Given the description of an element on the screen output the (x, y) to click on. 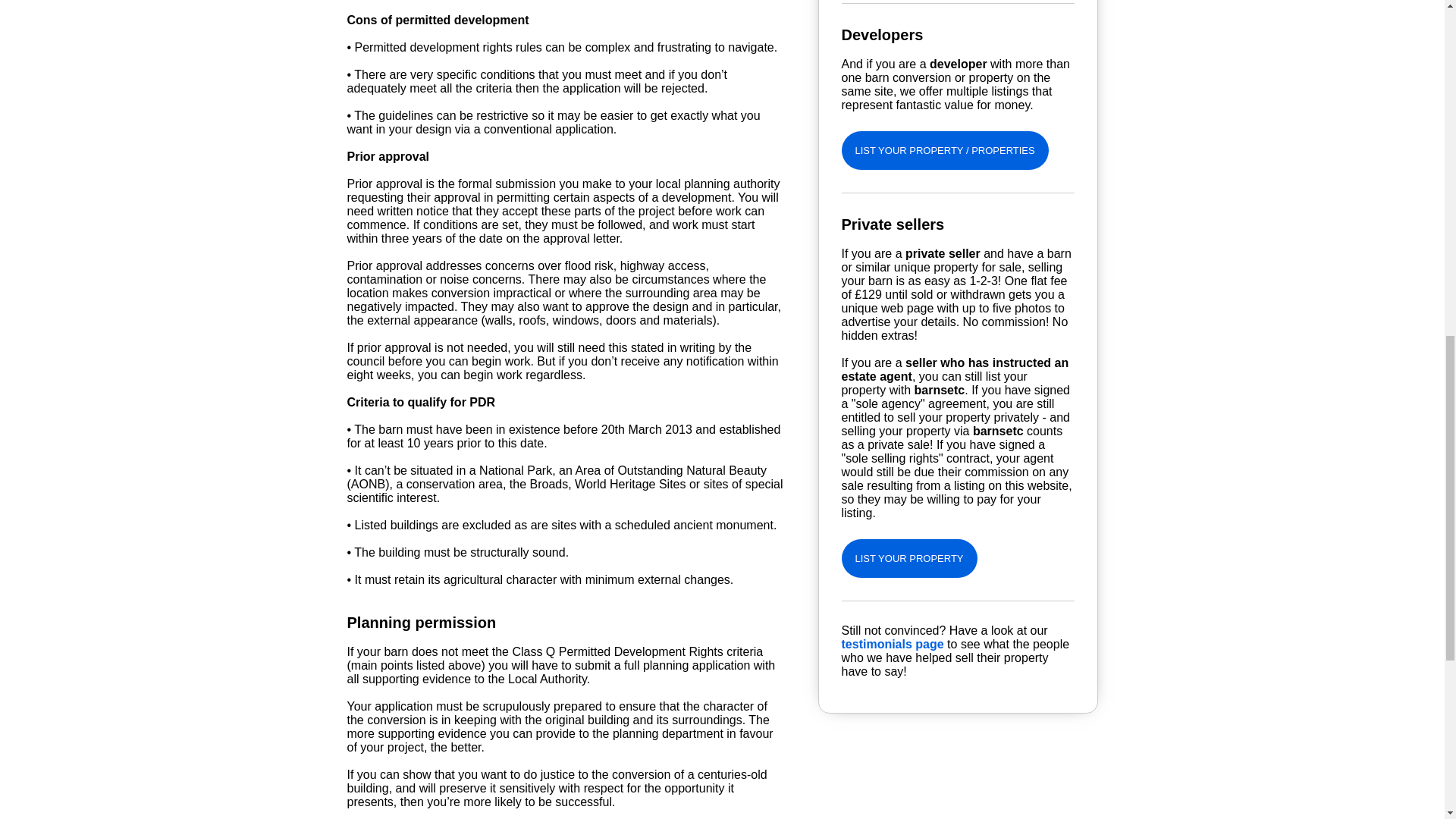
LIST YOUR PROPERTY (908, 557)
testimonials page (892, 644)
LIST YOUR PROPERTY (908, 558)
